Given the description of an element on the screen output the (x, y) to click on. 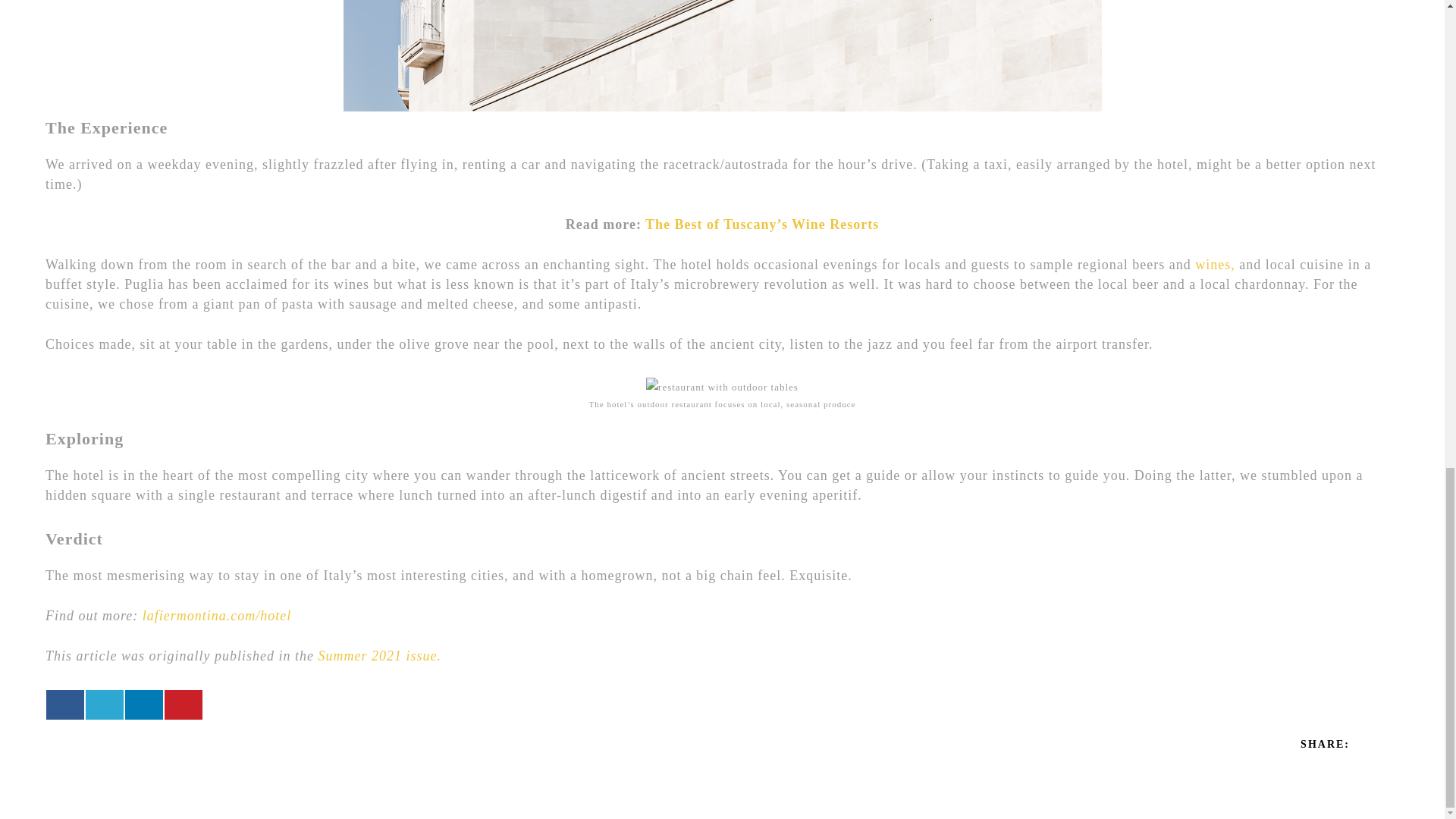
Share On Pinterest (183, 704)
Share On Facebook (65, 704)
Share On Twitter (104, 704)
Share On Linkedin (144, 704)
